Given the description of an element on the screen output the (x, y) to click on. 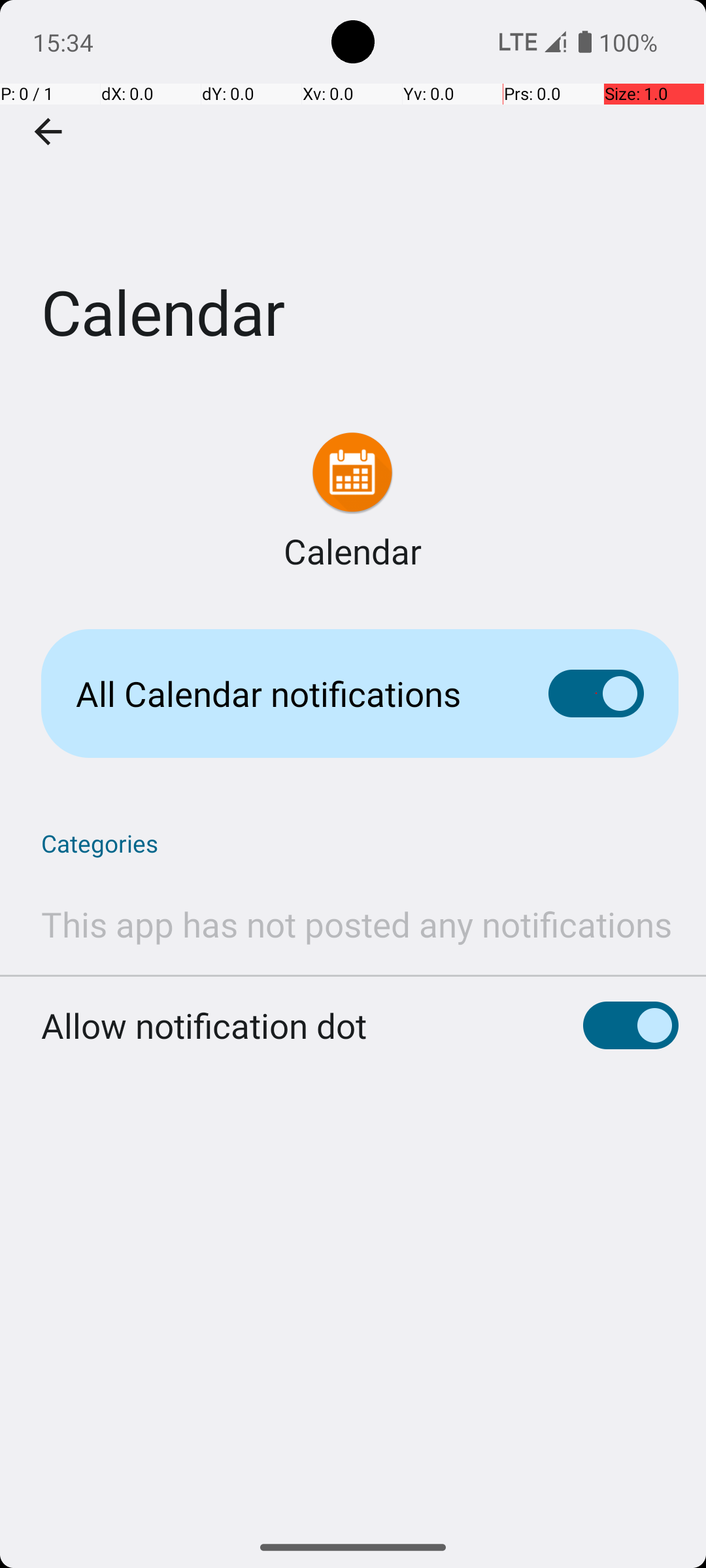
All Calendar notifications Element type: android.widget.TextView (291, 693)
This app has not posted any notifications Element type: android.widget.TextView (356, 923)
Allow notification dot Element type: android.widget.TextView (203, 1006)
